Given the description of an element on the screen output the (x, y) to click on. 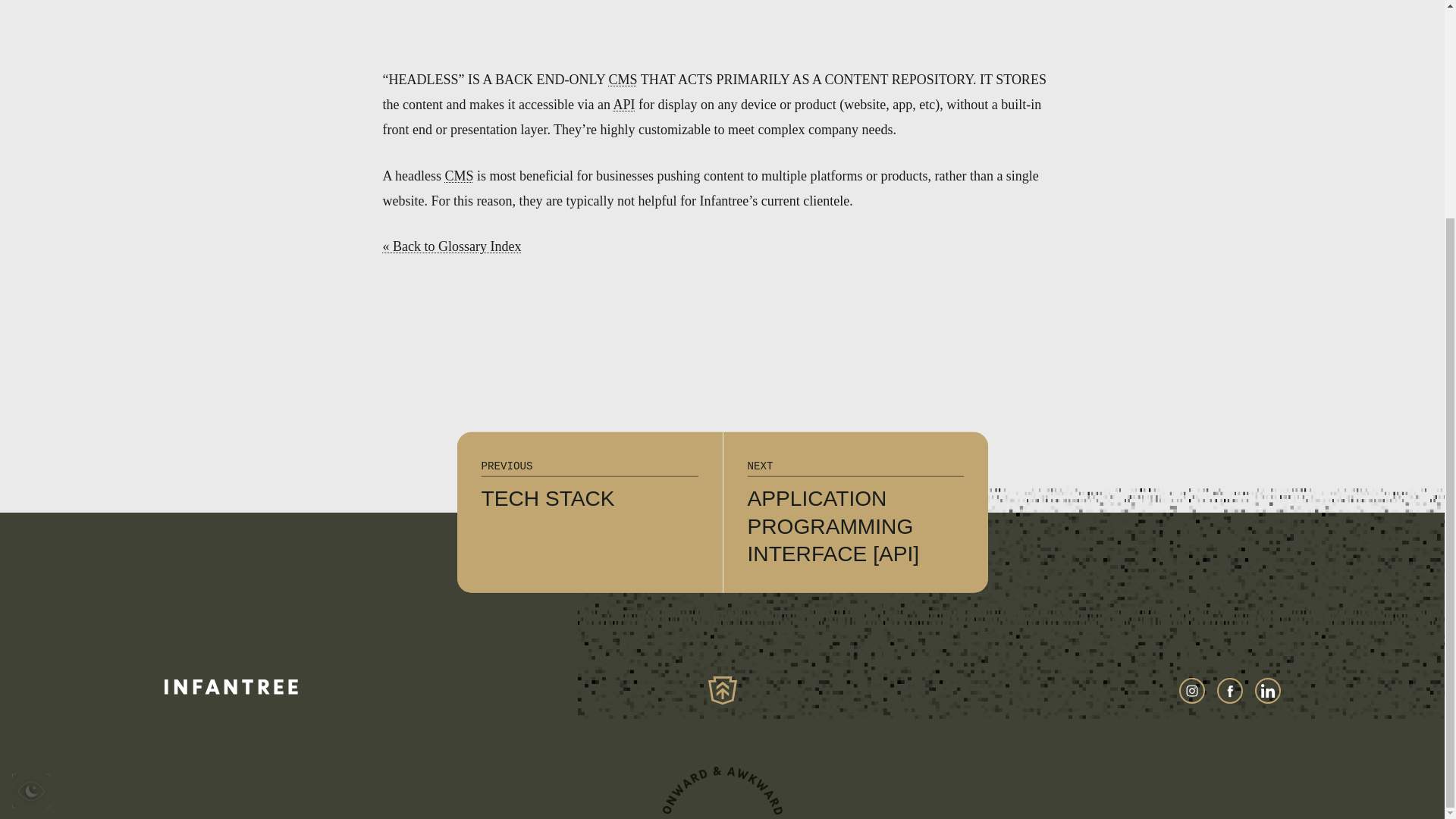
CMS (589, 512)
API (458, 175)
CMS (623, 104)
